Given the description of an element on the screen output the (x, y) to click on. 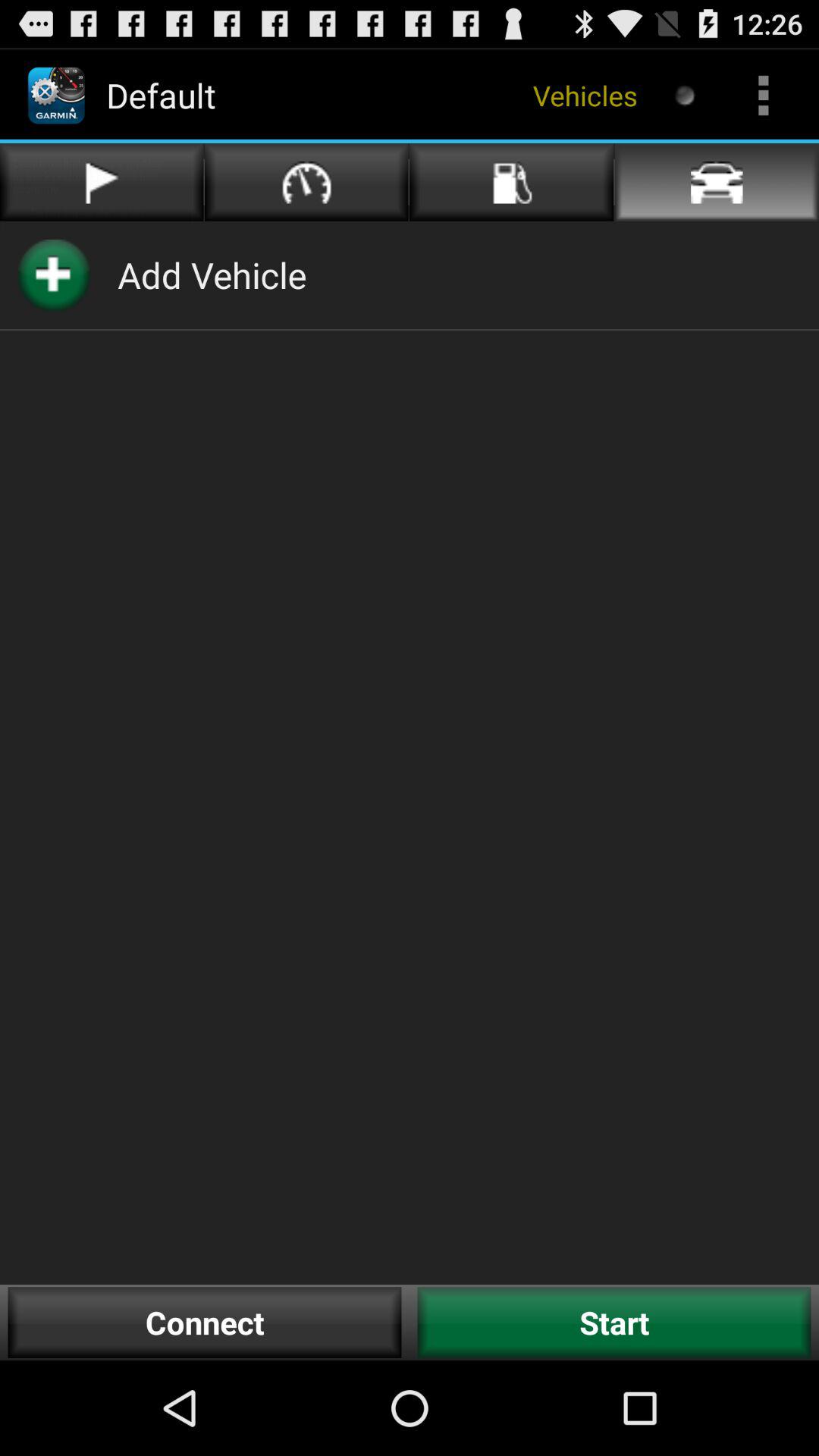
launch the start item (614, 1322)
